Given the description of an element on the screen output the (x, y) to click on. 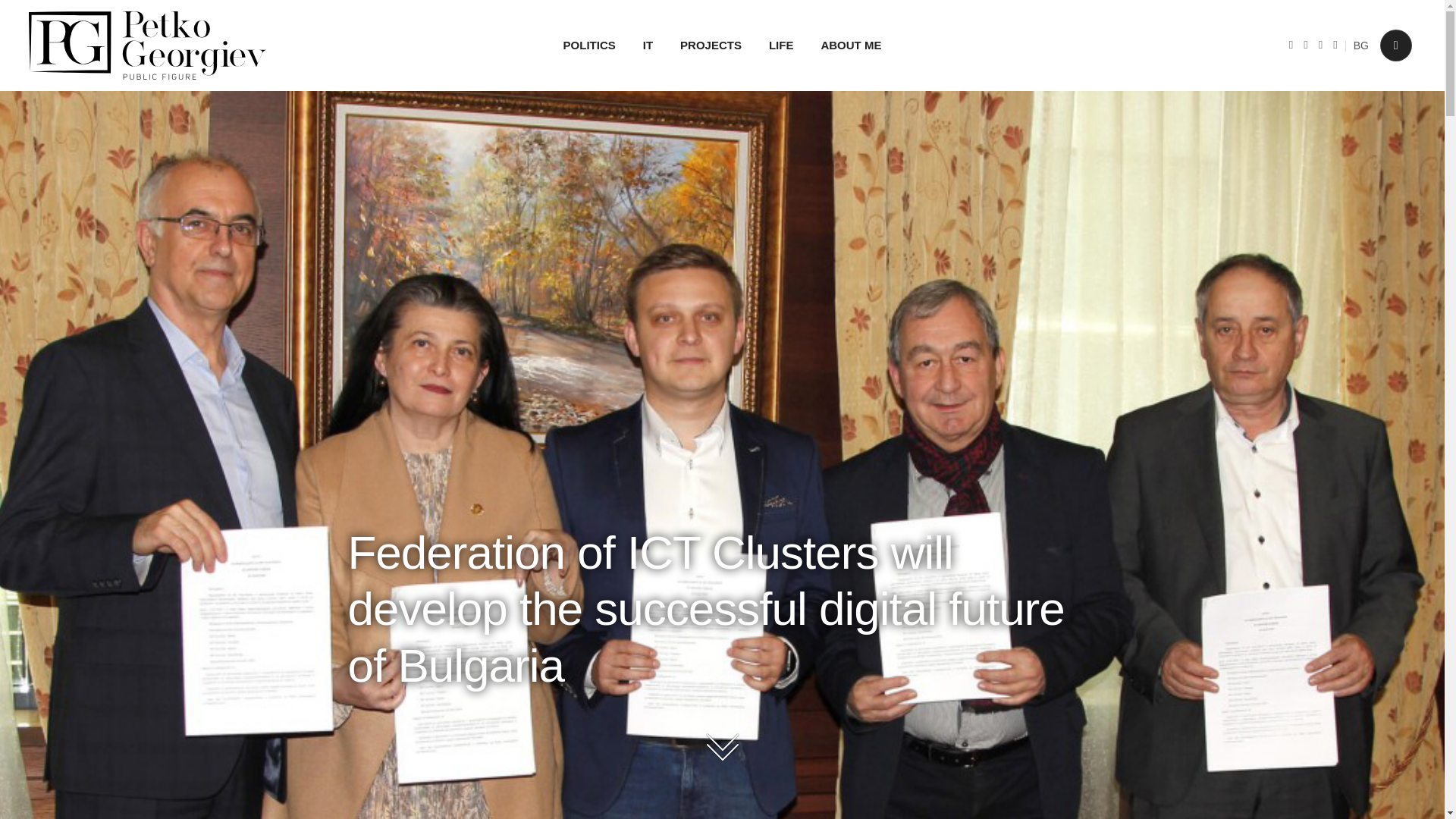
ABOUT ME (850, 45)
Petko Georgiev (147, 45)
PROJECTS (710, 45)
